Given the description of an element on the screen output the (x, y) to click on. 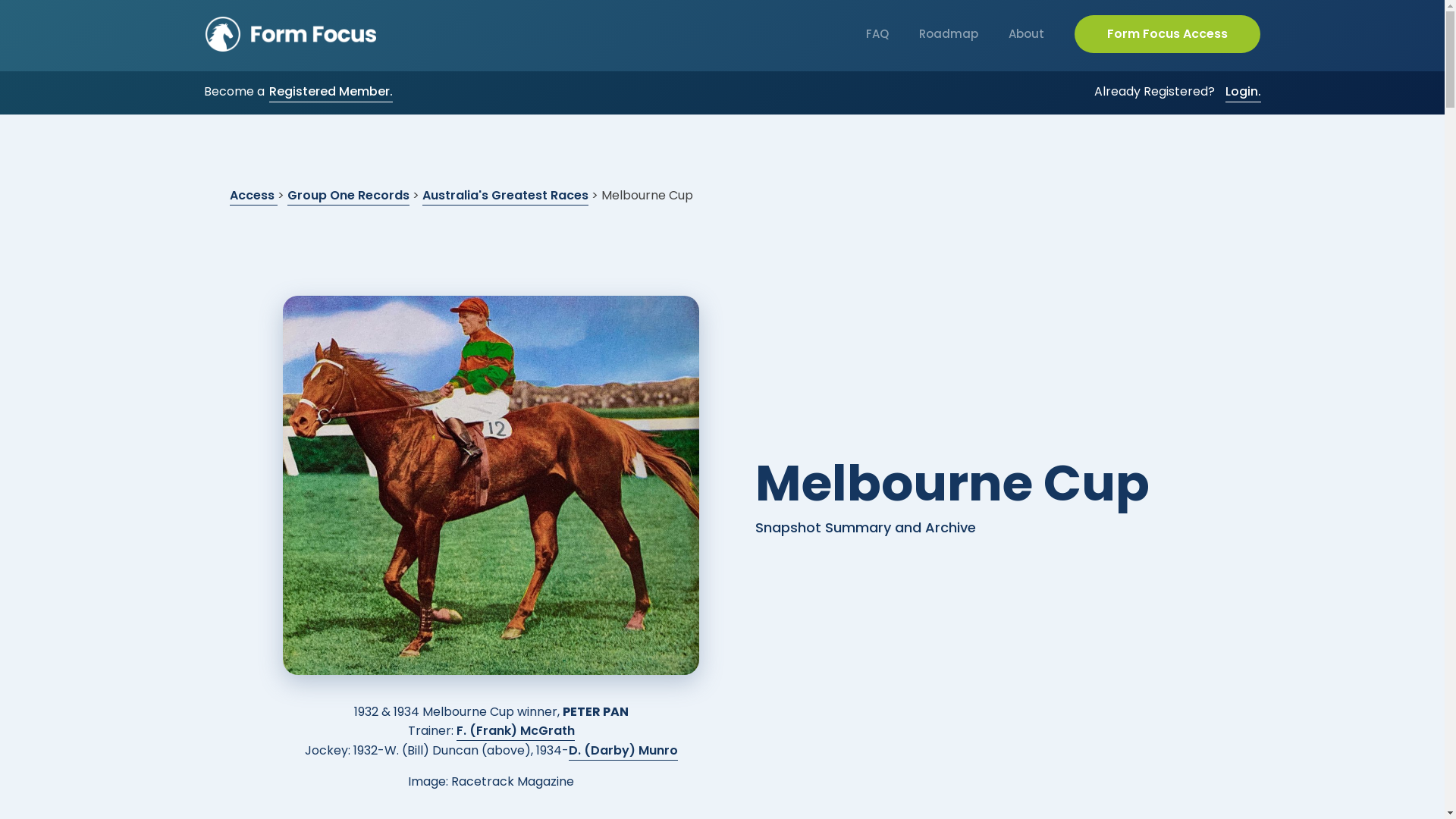
Group One Records Element type: text (347, 195)
FAQ Element type: text (877, 33)
Australia's Greatest Races Element type: text (504, 195)
Form Focus Access Element type: text (1167, 34)
Roadmap Element type: text (948, 33)
About Element type: text (1026, 33)
Registered Member. Element type: text (330, 91)
Access Element type: text (252, 195)
Login. Element type: text (1243, 91)
F. (Frank) McGrath Element type: text (515, 730)
D. (Darby) Munro Element type: text (622, 750)
